Given the description of an element on the screen output the (x, y) to click on. 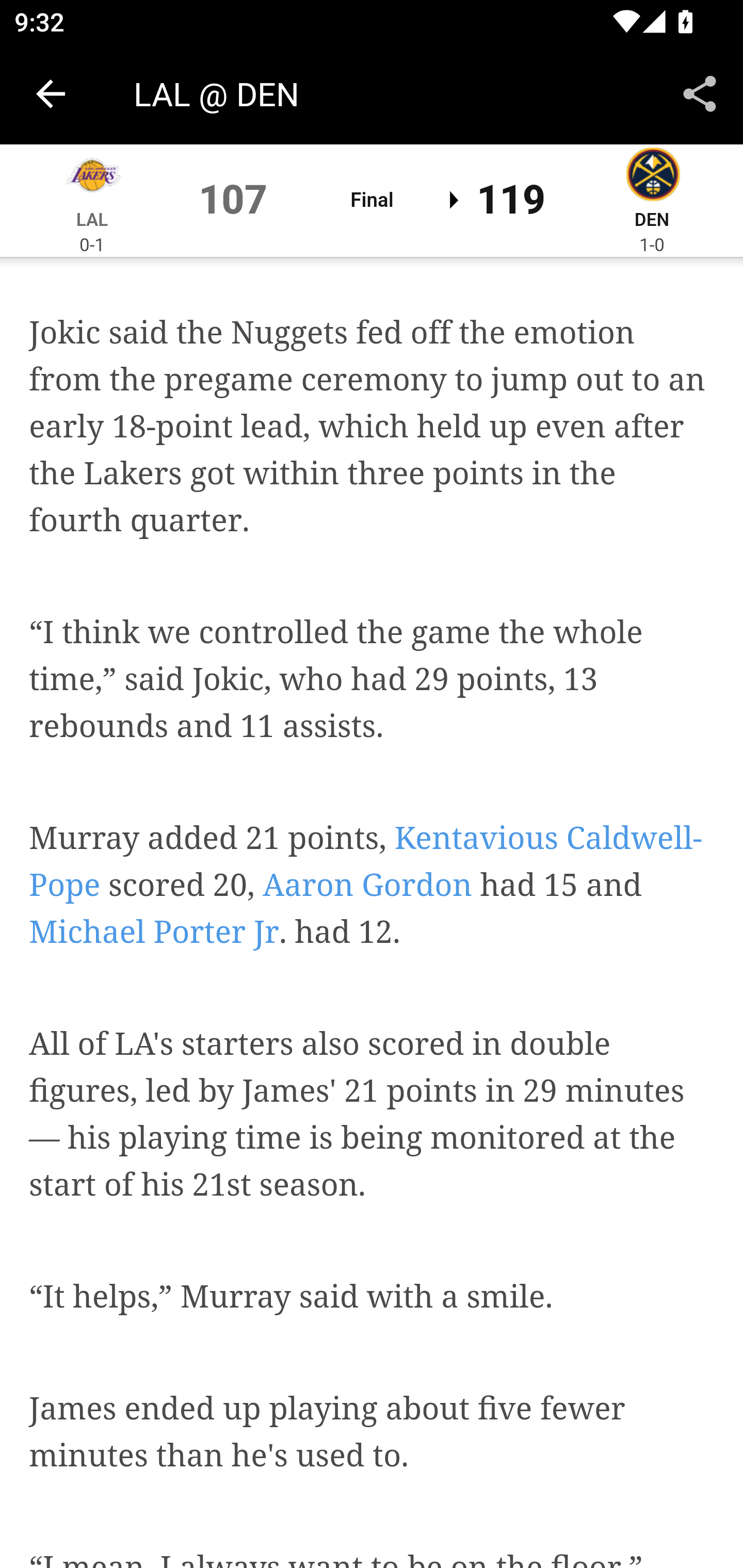
Navigate up (50, 93)
Share (699, 93)
Los Angeles Lakers (91, 177)
Denver Nuggets (651, 177)
LAL (92, 221)
DEN (651, 221)
Kentavious Caldwell-Pope (366, 862)
Aaron Gordon (367, 885)
Michael Porter Jr (153, 932)
